Given the description of an element on the screen output the (x, y) to click on. 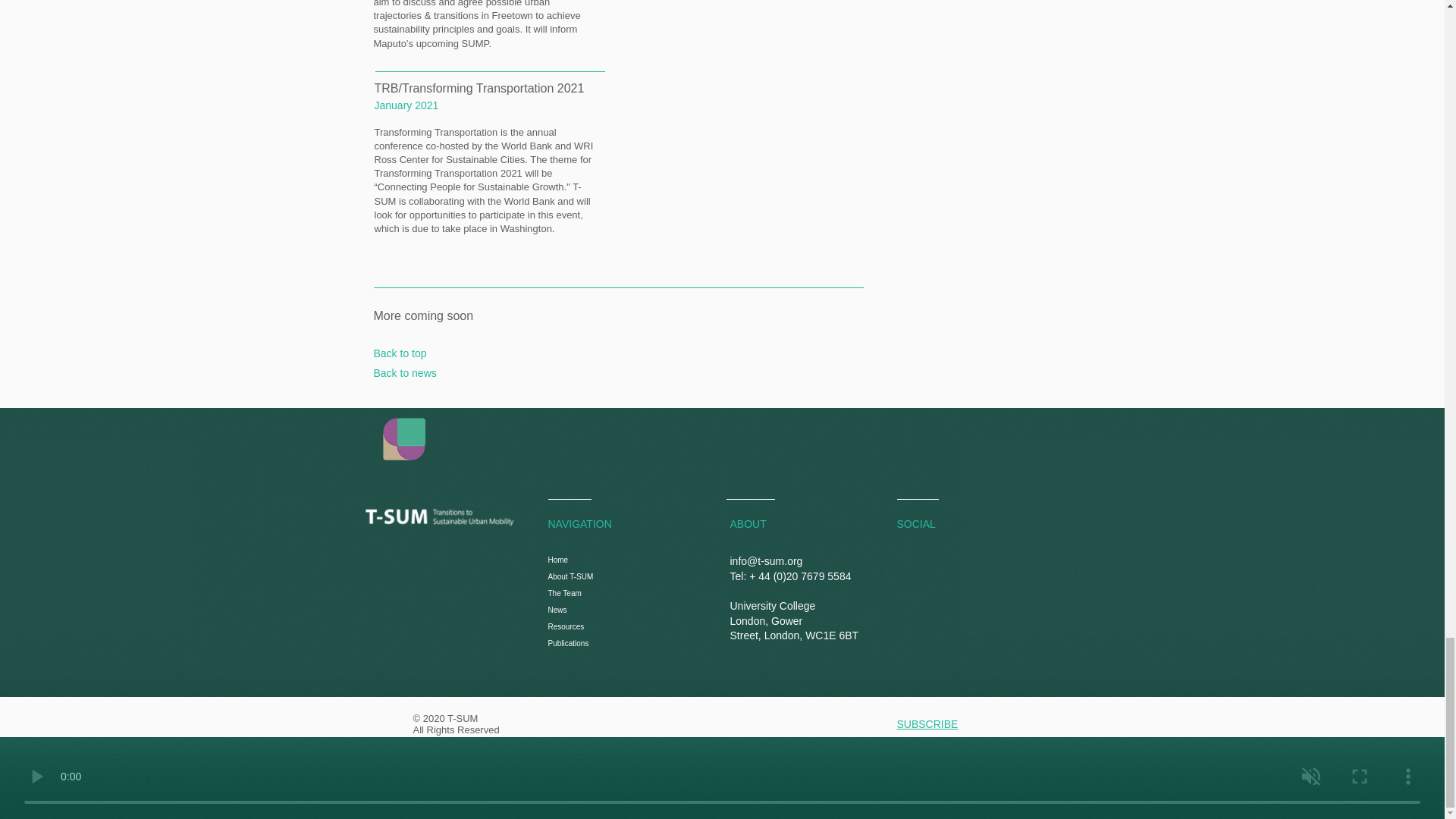
Back to top (399, 353)
Back to news (403, 372)
About T-SUM (666, 576)
ABOUT (747, 523)
Home (666, 560)
